Given the description of an element on the screen output the (x, y) to click on. 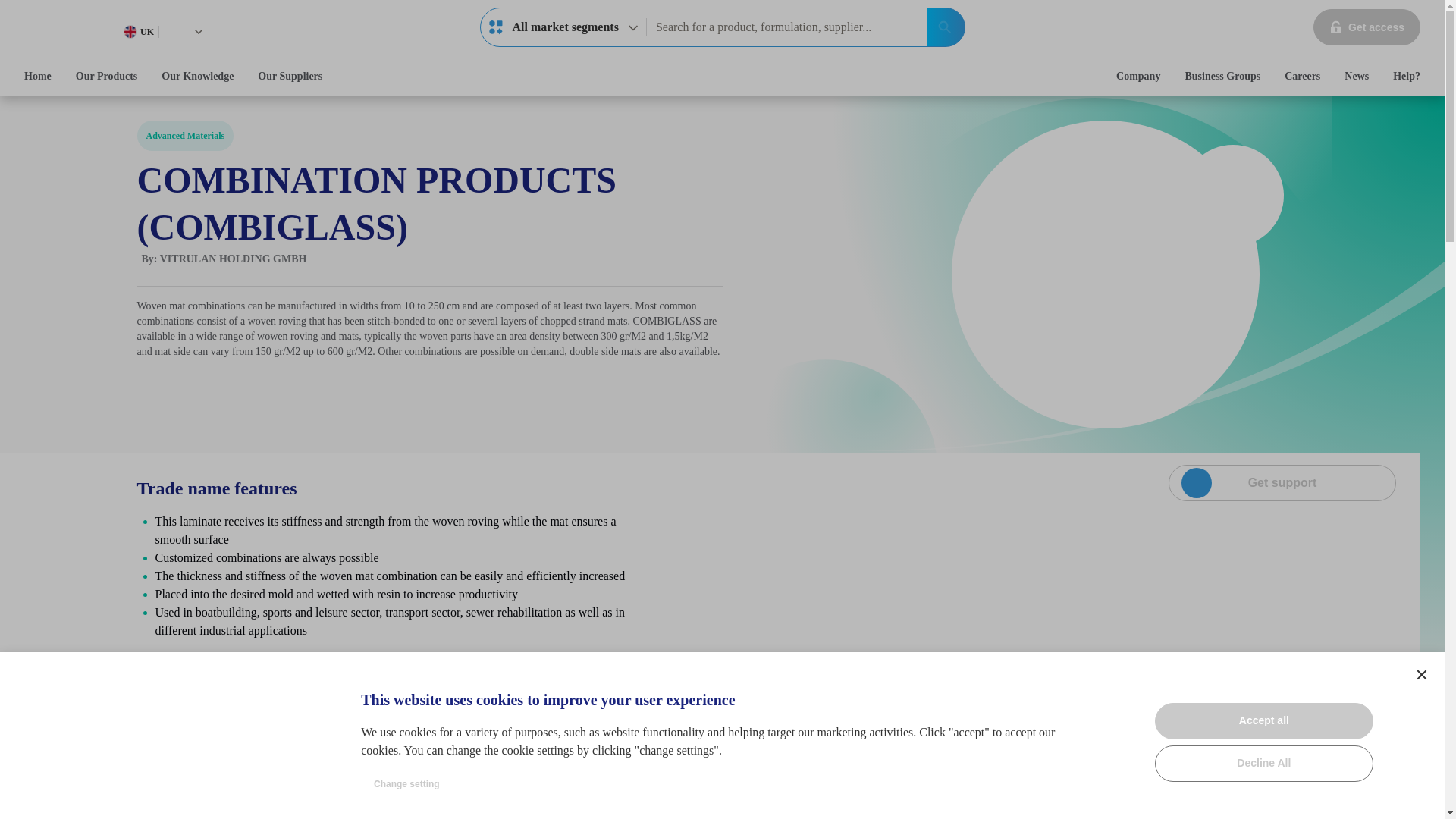
Settings (1421, 675)
View details (589, 774)
Help? (1406, 76)
Company (1137, 76)
Get support (563, 27)
Open Dropdown (1282, 483)
all (198, 31)
Careers (495, 27)
Get access (1302, 76)
